Given the description of an element on the screen output the (x, y) to click on. 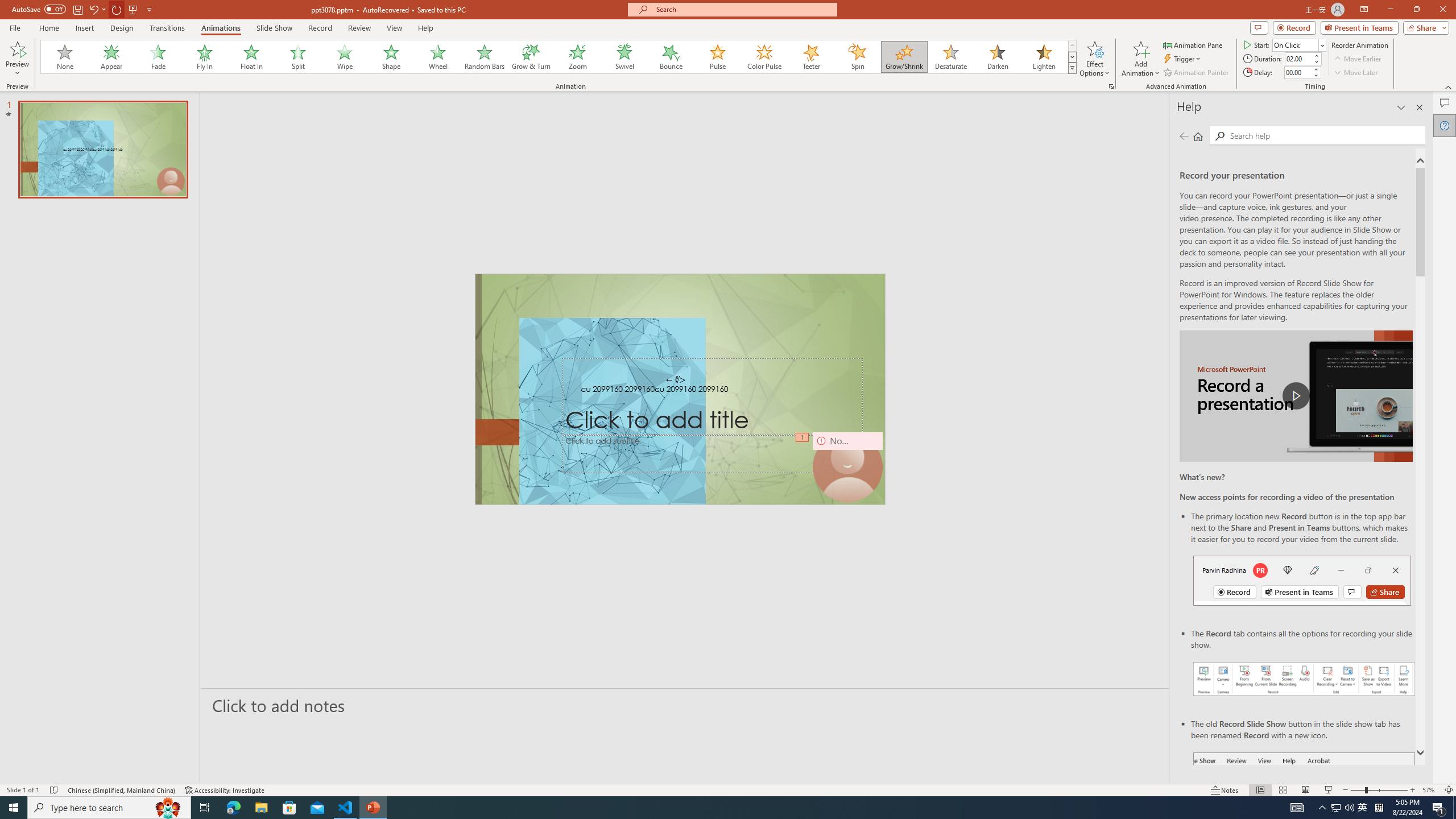
Appear (111, 56)
Darken (997, 56)
Move Later (1355, 72)
More Options... (1110, 85)
AutomationID: AnimationGallery (558, 56)
